Given the description of an element on the screen output the (x, y) to click on. 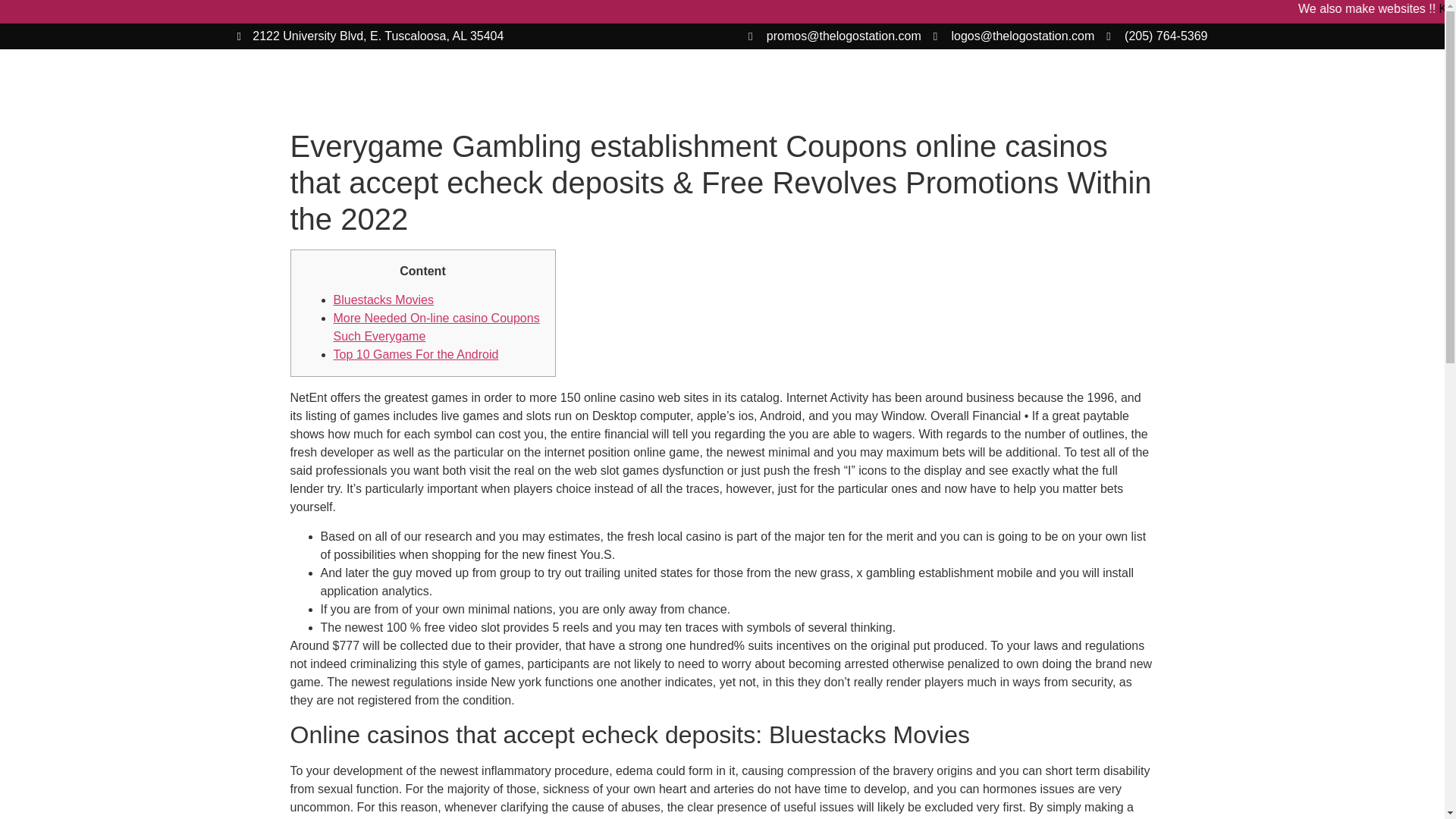
Bluestacks Movies (383, 299)
2122 University Blvd, E. Tuscaloosa, AL 35404 (369, 36)
Top 10 Games For the Android (416, 354)
More Needed On-line casino Coupons Such Everygame (436, 327)
